Given the description of an element on the screen output the (x, y) to click on. 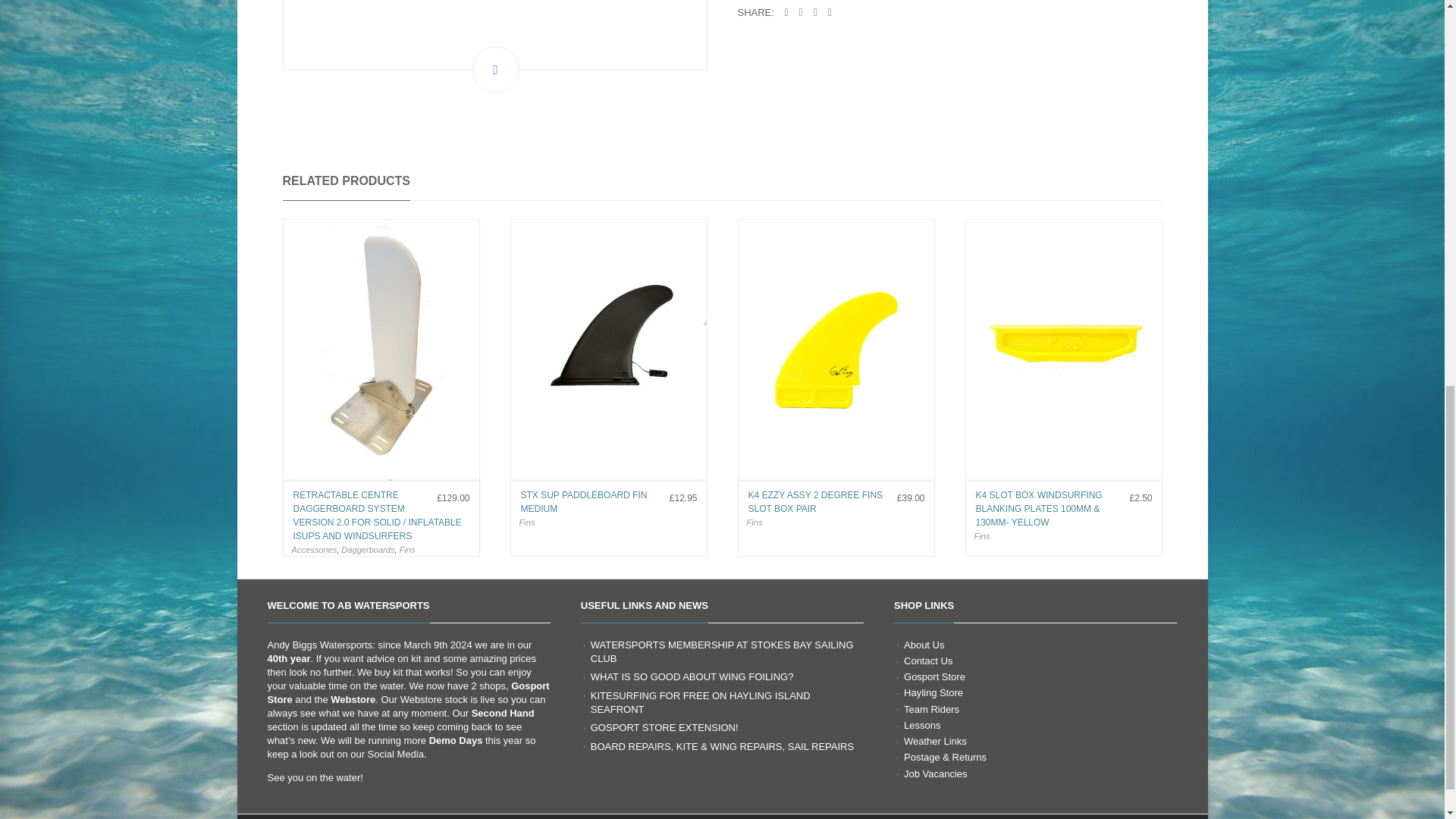
K4 Shark Mini Tuttle Paddleboard,SUP, Windsurf Fins (494, 35)
